Given the description of an element on the screen output the (x, y) to click on. 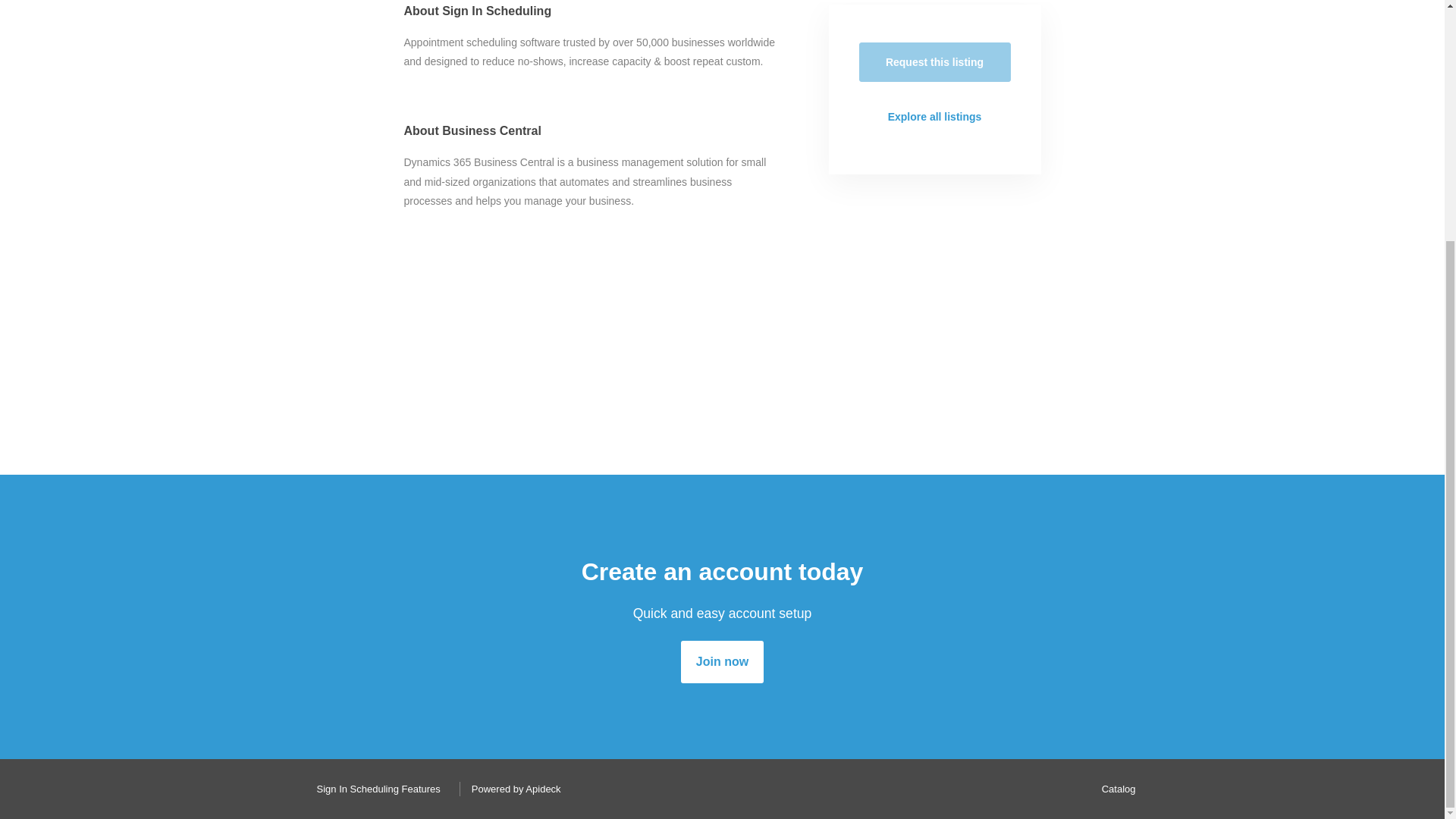
Sign In Scheduling Features (374, 789)
Explore all listings (934, 116)
Request this listing (934, 61)
Powered by Apideck (512, 789)
Join now (721, 661)
Catalog (1115, 789)
